Given the description of an element on the screen output the (x, y) to click on. 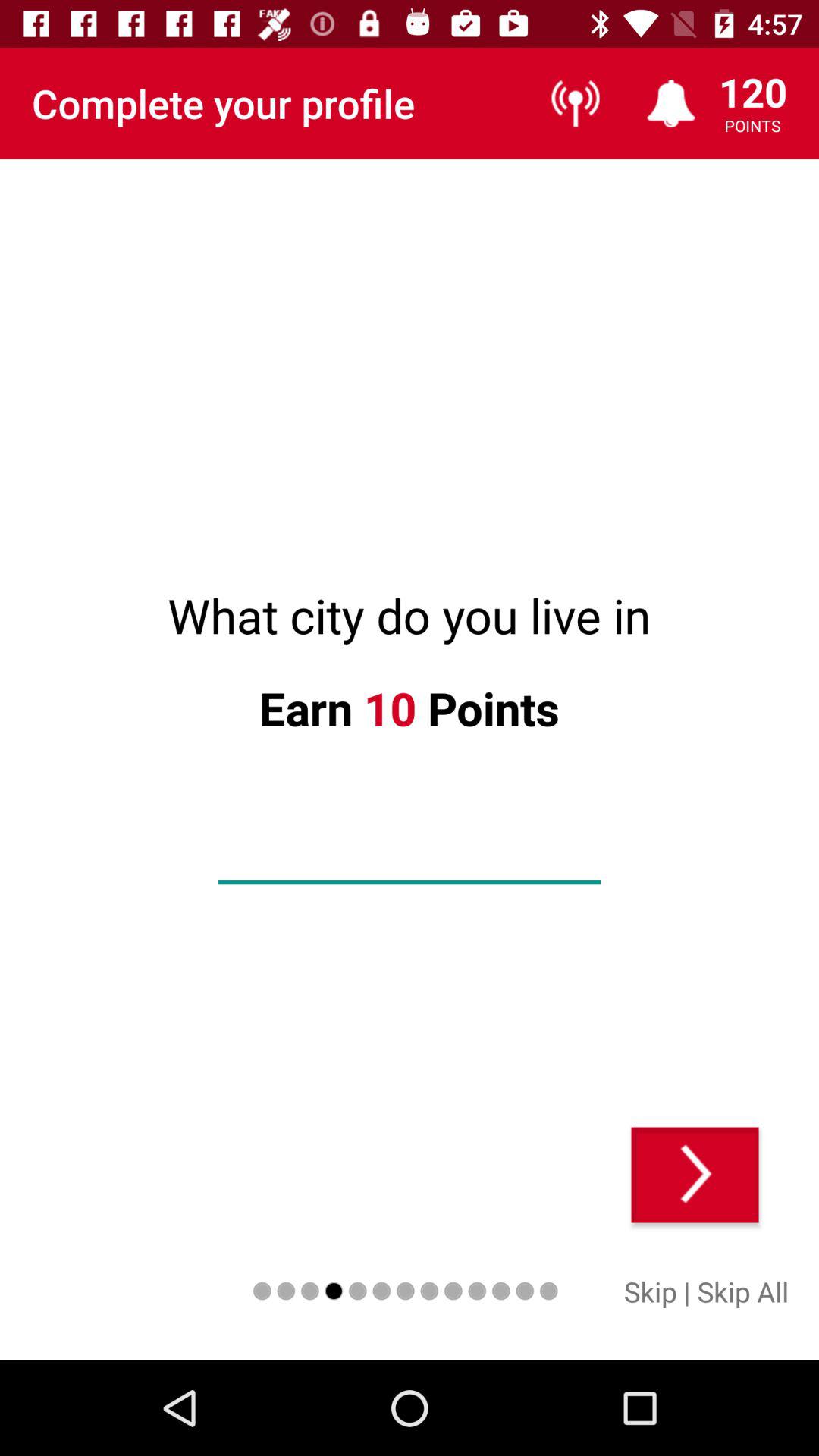
launch the icon below earn  icon (409, 858)
